Given the description of an element on the screen output the (x, y) to click on. 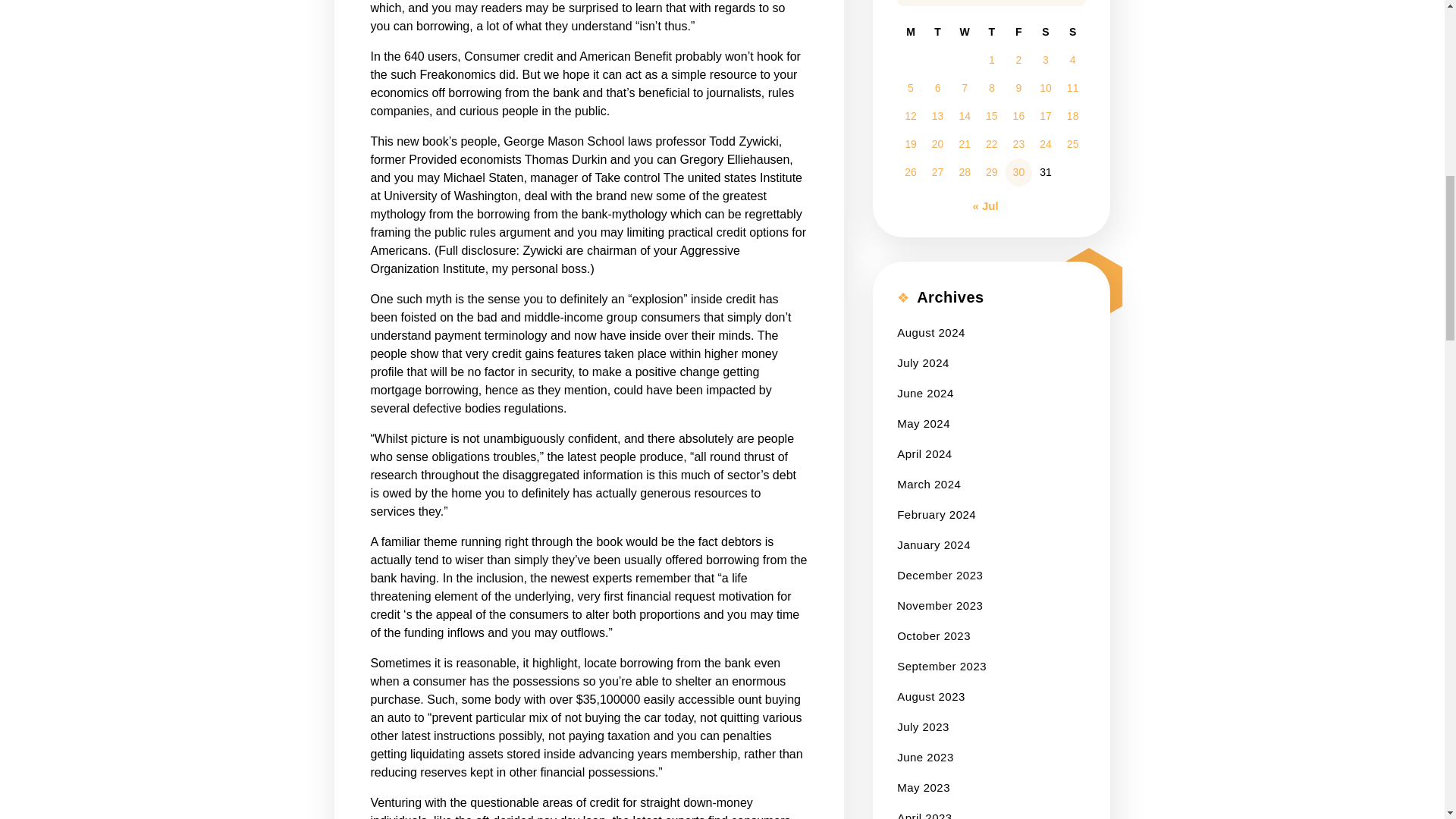
Sunday (1072, 31)
18 (1072, 115)
Friday (1019, 31)
15 (991, 115)
17 (1045, 115)
13 (937, 115)
14 (964, 115)
11 (1072, 87)
16 (1019, 115)
Saturday (1045, 31)
